Given the description of an element on the screen output the (x, y) to click on. 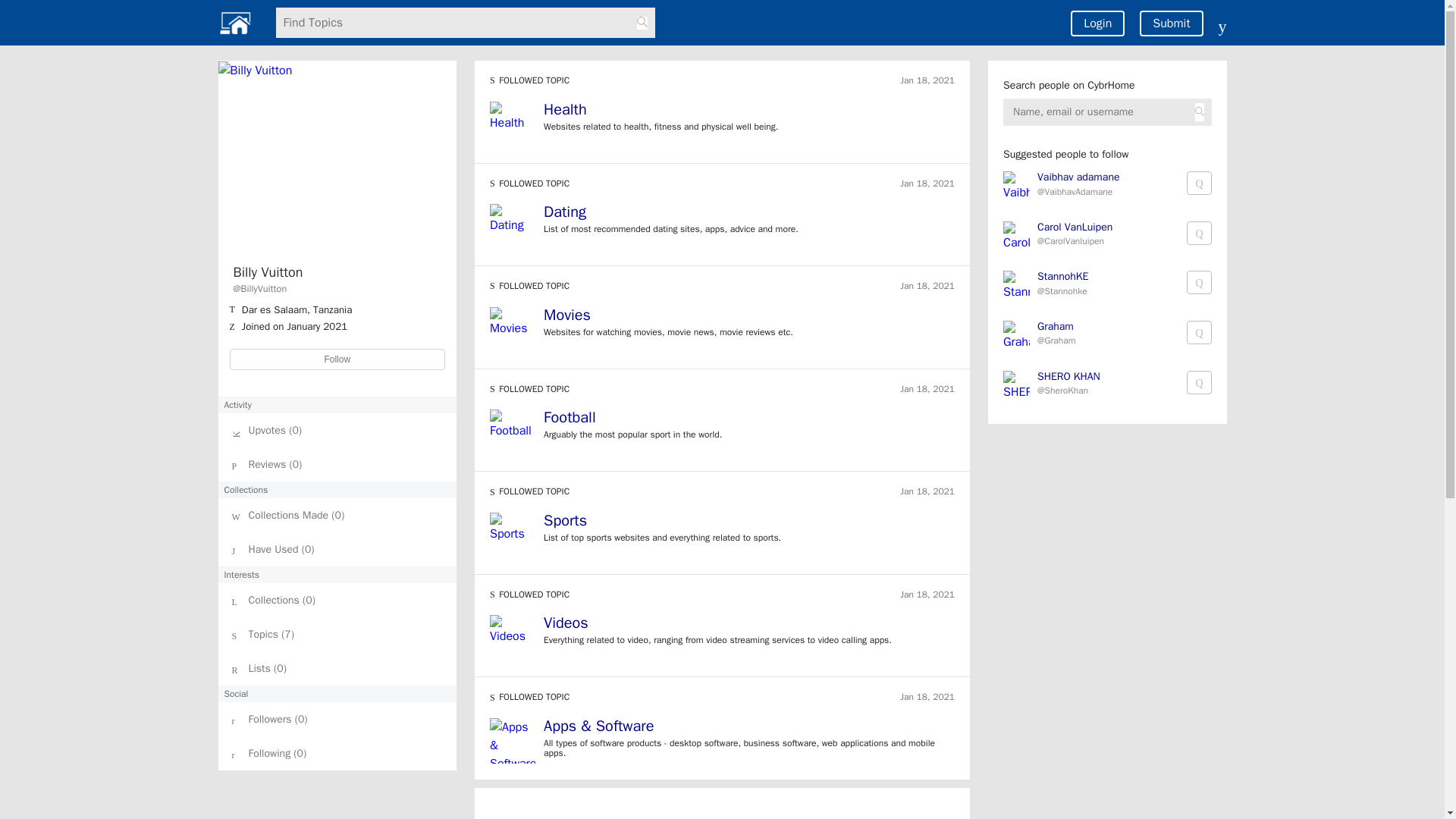
Health (749, 111)
Graham (1055, 328)
CarolVanluipen (1074, 243)
Vaibhav adamane (1077, 176)
Vaibhav adamane (1077, 178)
VaibhavAdamane (1077, 193)
SheroKhan (1068, 392)
SHERO KHAN (1068, 378)
Football (569, 416)
Stannohke (1061, 293)
StannohKE (1061, 278)
Graham (1055, 326)
Graham (1055, 342)
Carol VanLuipen (1074, 226)
Follow (336, 359)
